Given the description of an element on the screen output the (x, y) to click on. 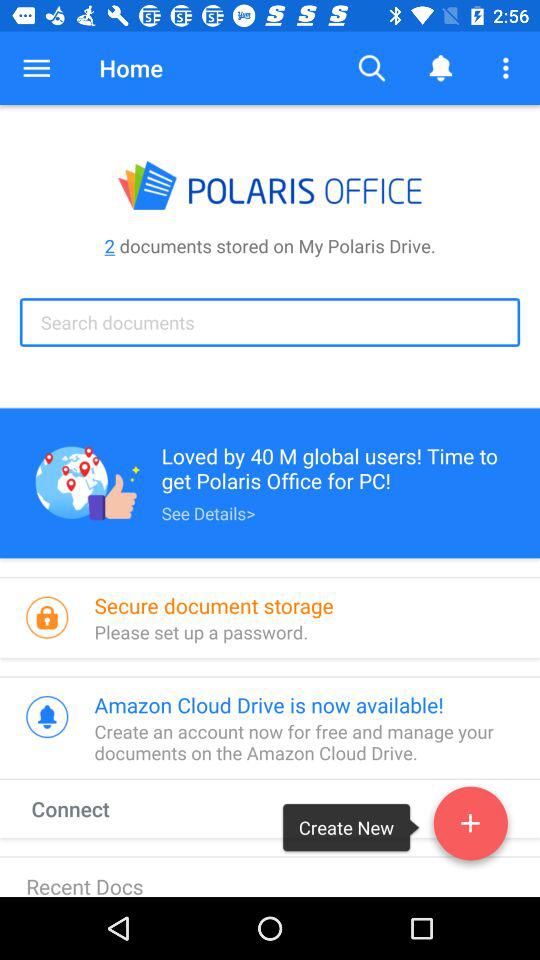
press the icon above the 2 documents stored item (36, 68)
